Given the description of an element on the screen output the (x, y) to click on. 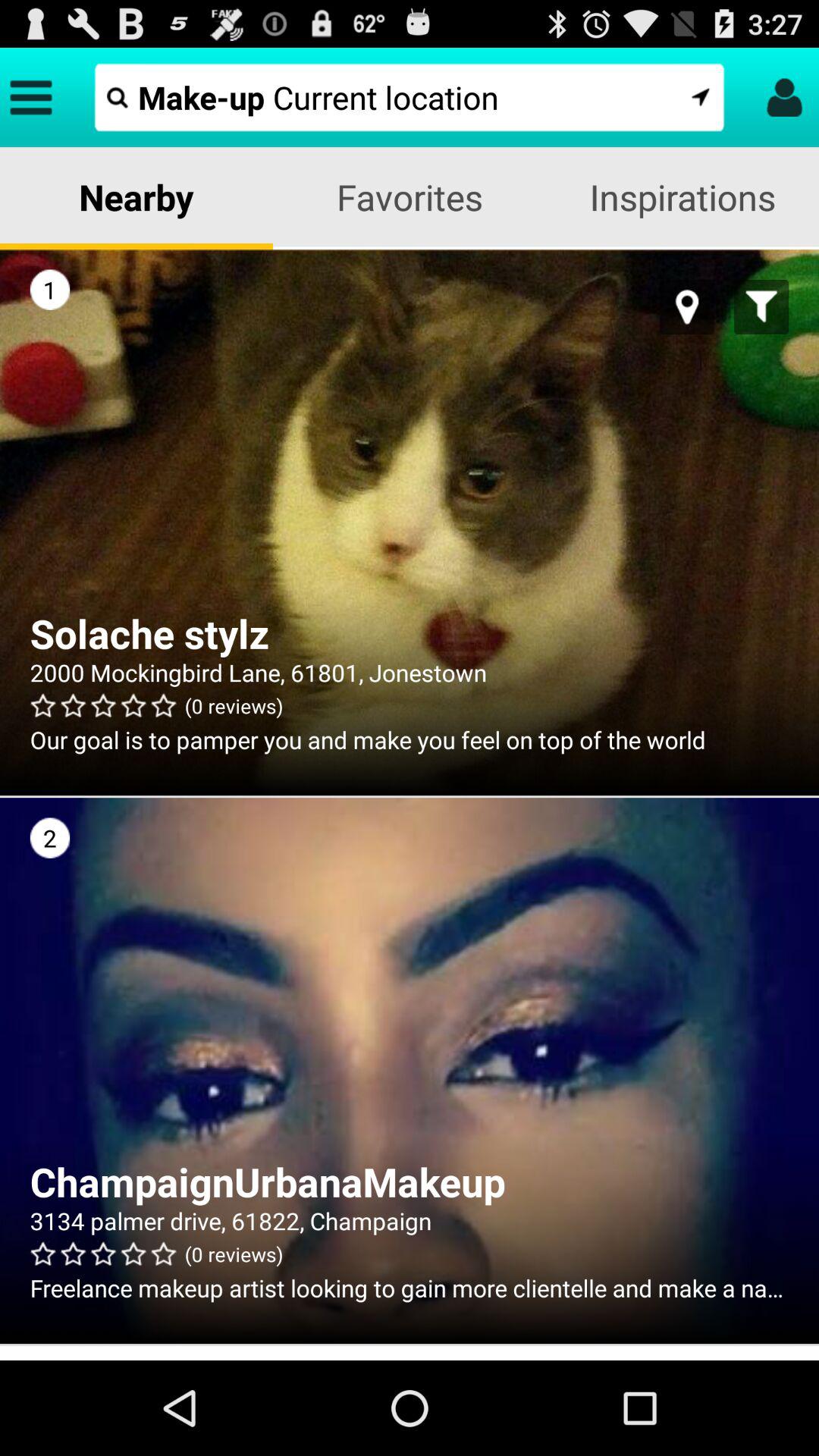
turn on the freelance makeup artist icon (409, 1287)
